Given the description of an element on the screen output the (x, y) to click on. 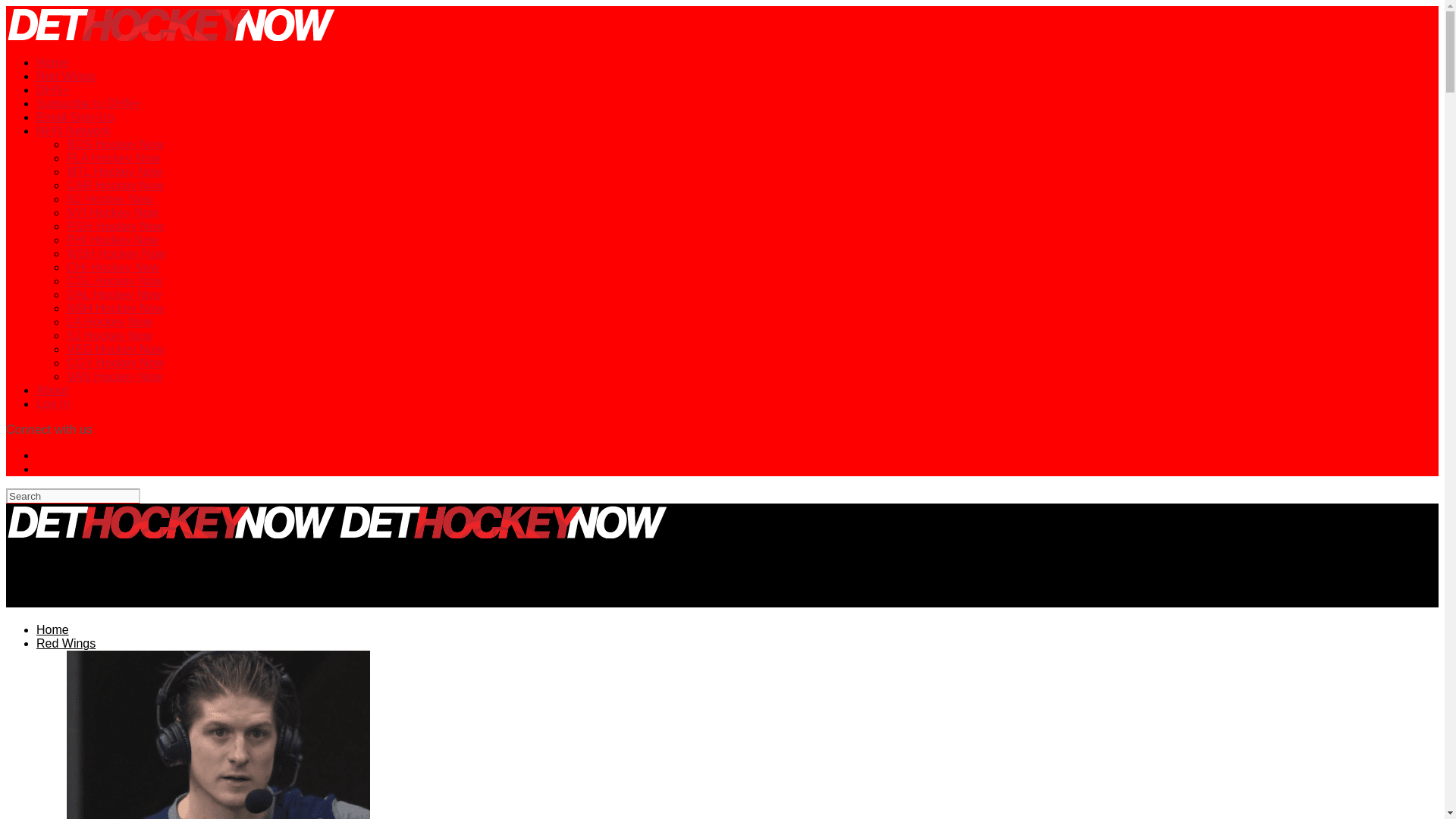
CHI Hockey Now (112, 267)
WSH Hockey Now (116, 253)
CAR Hockey Now (114, 185)
COL Hockey Now (114, 280)
Red Wings (66, 75)
MTL Hockey Now (113, 171)
Email Sign-Up (74, 116)
PGH Hockey Now (115, 226)
VEG Hockey Now (114, 349)
Log In (52, 403)
PHI Hockey Now (112, 239)
NJ Hockey Now (109, 198)
FLA Hockey Now (113, 157)
SJ Hockey Now (109, 335)
BOS Hockey Now (114, 144)
